Given the description of an element on the screen output the (x, y) to click on. 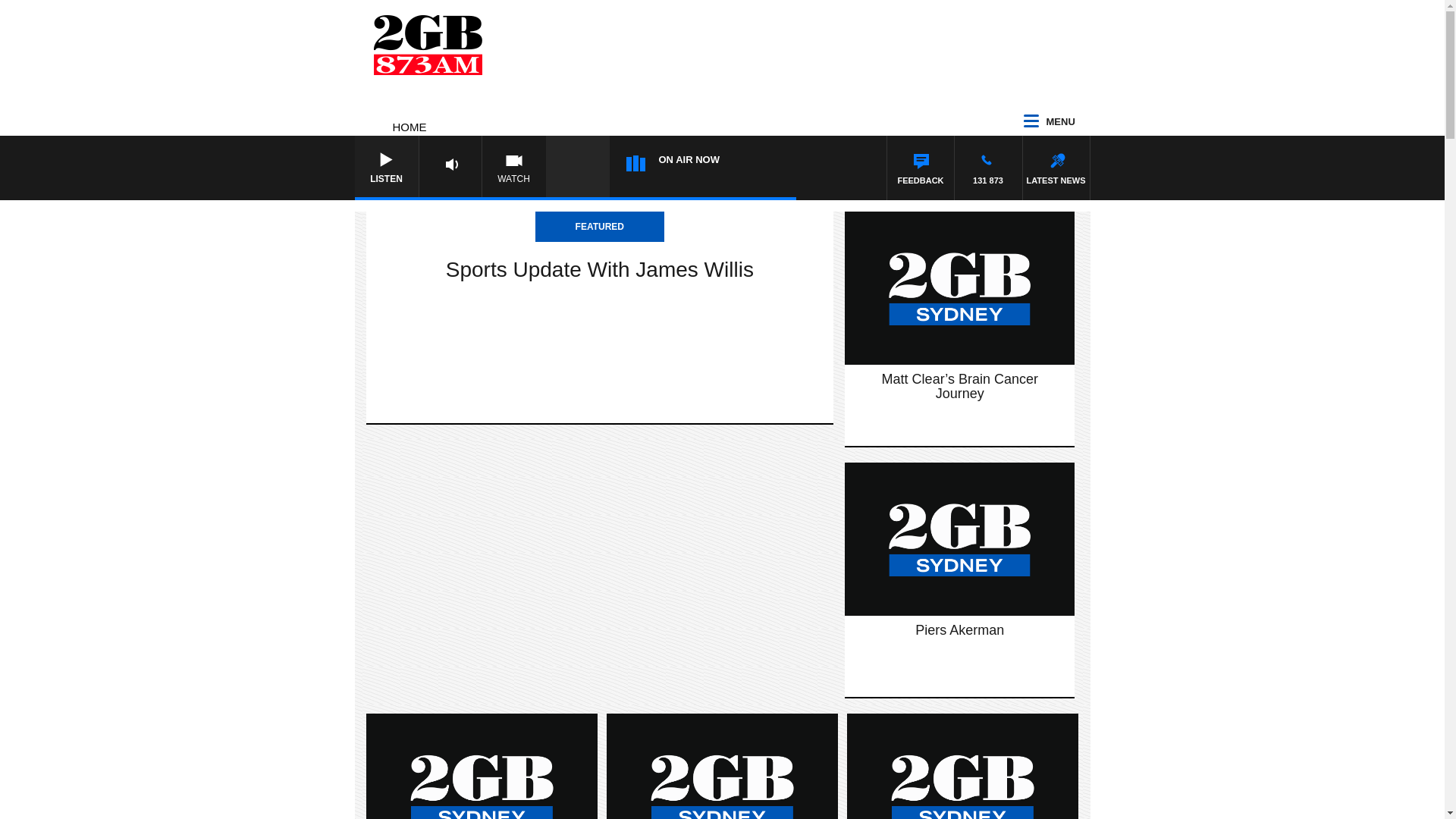
MENU Element type: text (1056, 121)
FEATURED Element type: text (599, 226)
HOME Element type: text (409, 126)
REGISTER Element type: text (818, 424)
Piers Akerman Element type: text (959, 630)
131 873 Element type: text (987, 167)
WATCH Element type: text (514, 167)
FEEDBACK Element type: text (920, 167)
Find out more about registration. Element type: text (812, 419)
Sports Update With James Willis Element type: text (599, 269)
LATEST NEWS Element type: text (1055, 167)
skip for now Element type: text (757, 419)
Register an account Element type: text (871, 428)
